Given the description of an element on the screen output the (x, y) to click on. 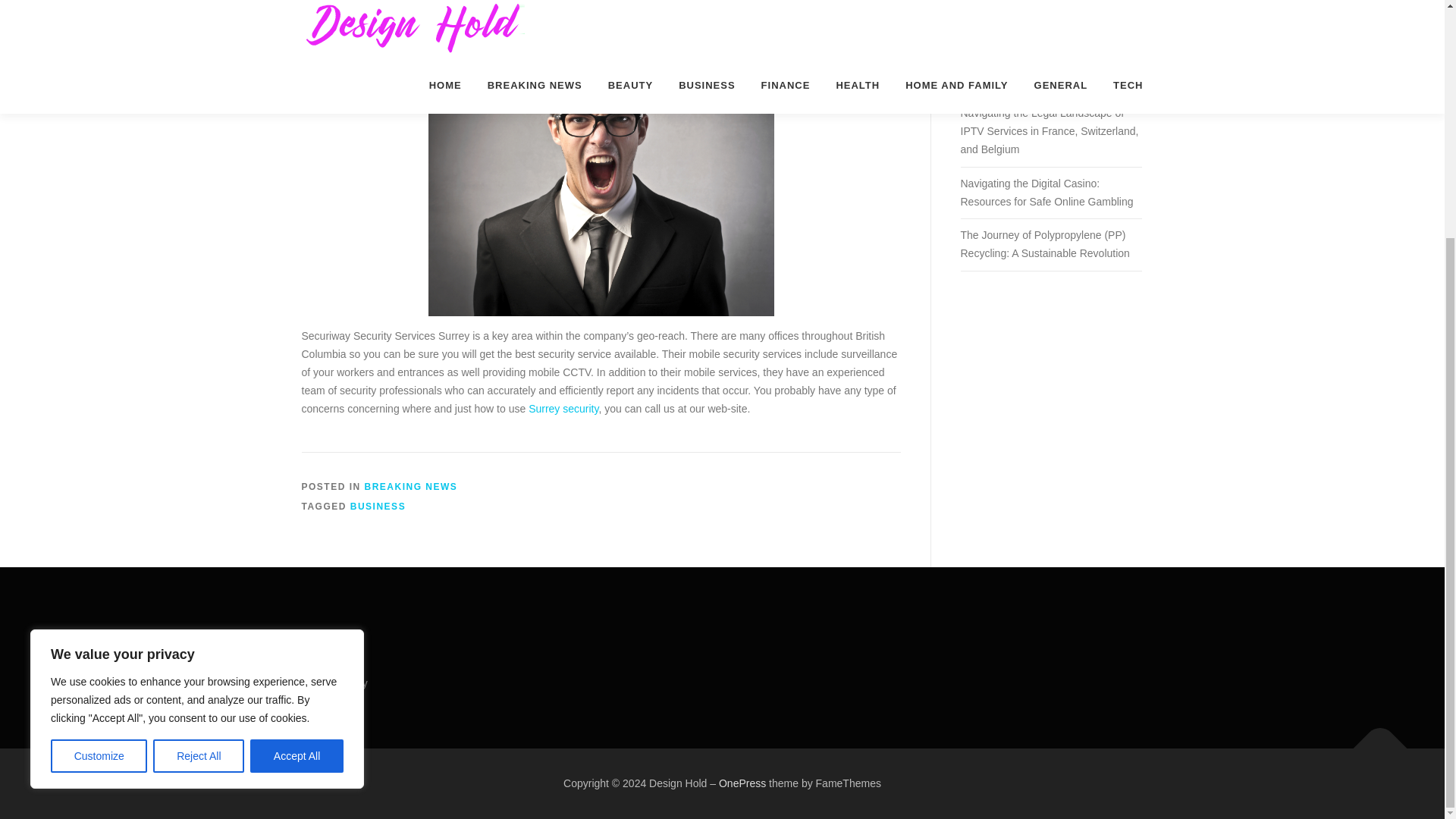
Customize (98, 430)
Accept All (296, 430)
Surrey security (563, 408)
Reject All (198, 430)
BUSINESS (378, 506)
BREAKING NEWS (411, 486)
Back To Top (1372, 740)
